Given the description of an element on the screen output the (x, y) to click on. 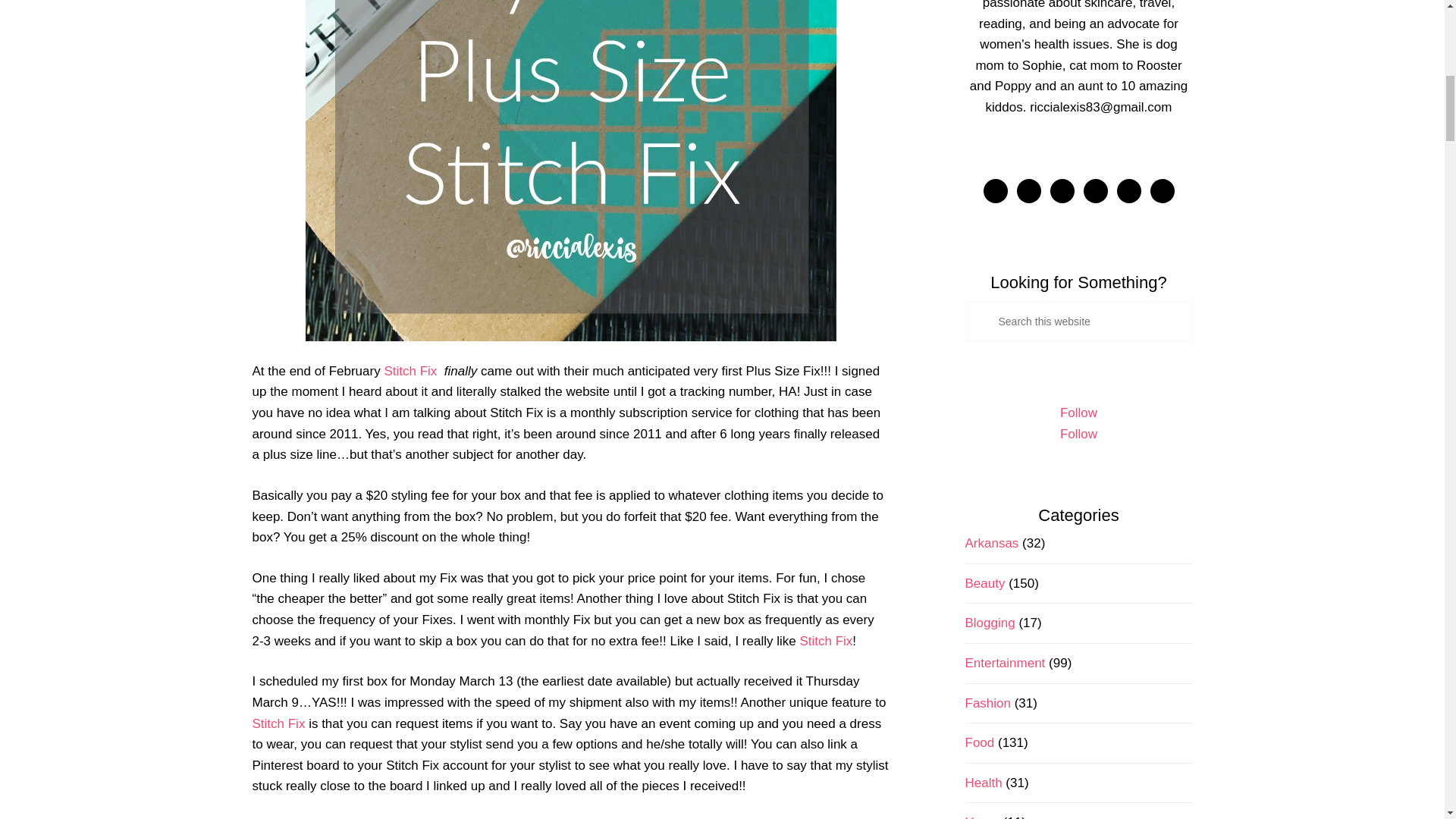
Stitch Fix (410, 370)
Stitch Fix (277, 722)
Stitch Fix (825, 640)
